Given the description of an element on the screen output the (x, y) to click on. 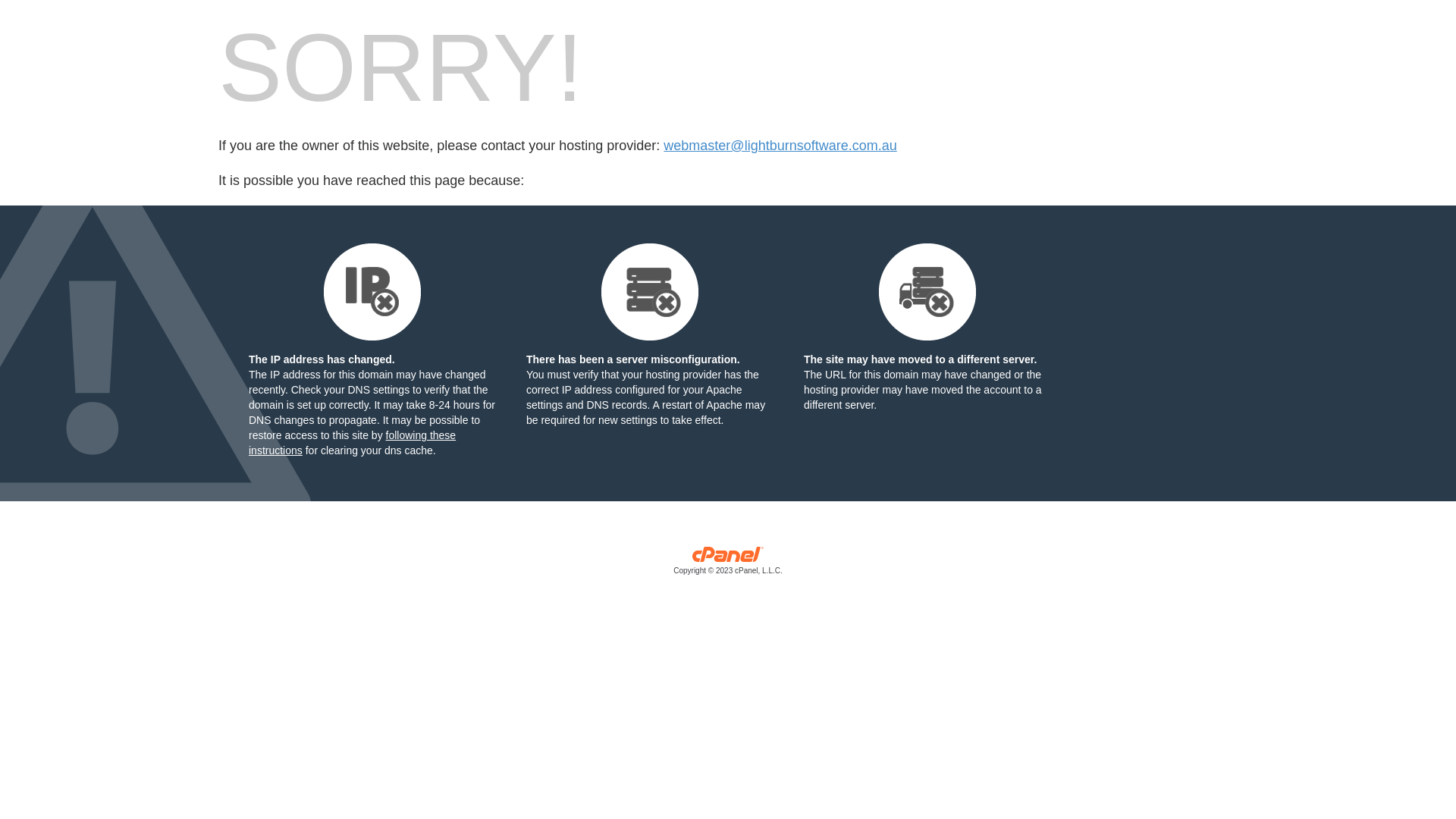
webmaster@lightburnsoftware.com.au Element type: text (779, 145)
following these instructions Element type: text (351, 442)
